Given the description of an element on the screen output the (x, y) to click on. 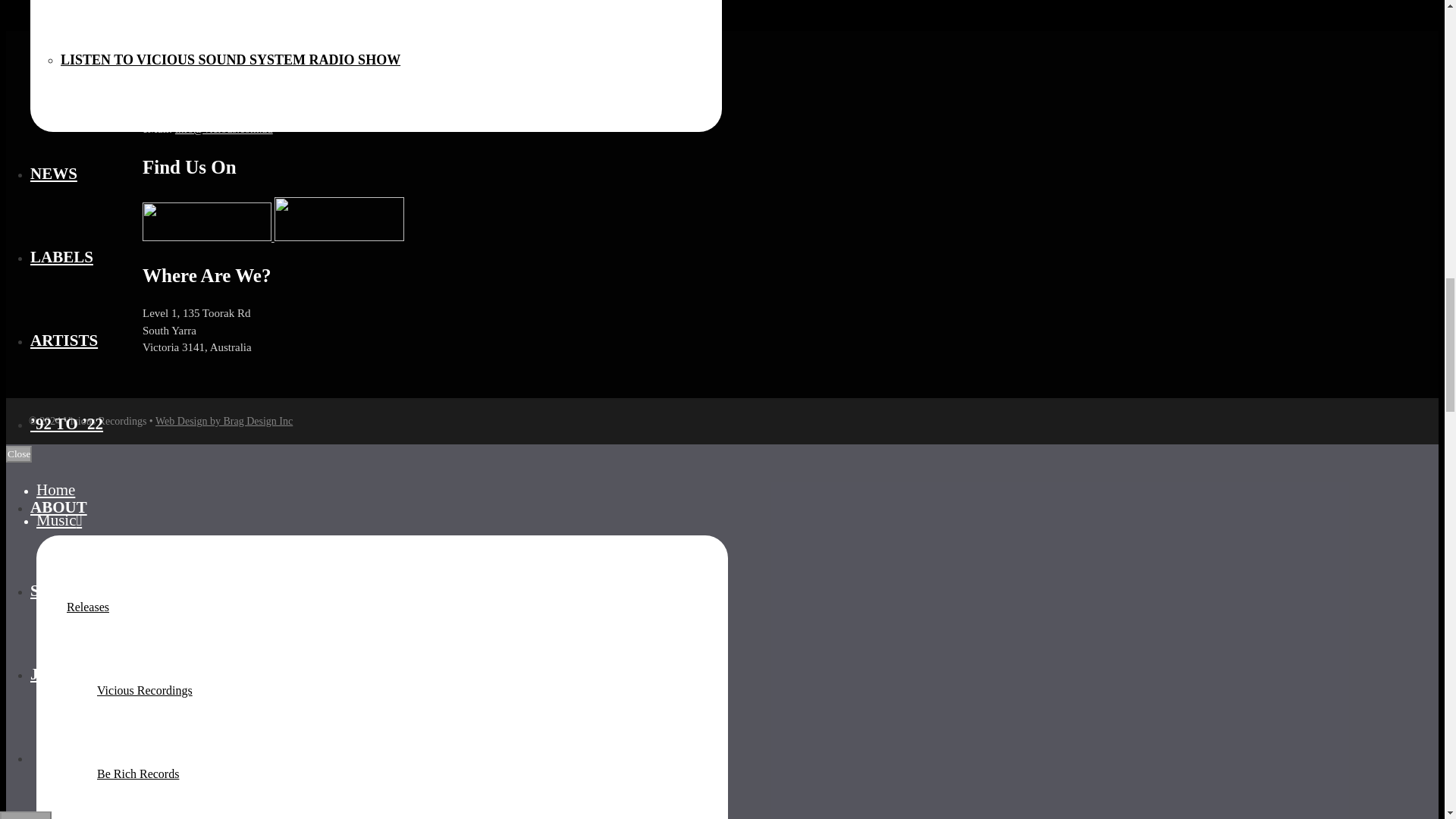
LISTEN TO VICIOUS SOUND SYSTEM RADIO SHOW (230, 60)
JOIN (49, 674)
LABELS (61, 257)
MENU (25, 815)
NEWS (53, 173)
ARTISTS (63, 340)
SYNCH (57, 590)
ABOUT (58, 506)
